Given the description of an element on the screen output the (x, y) to click on. 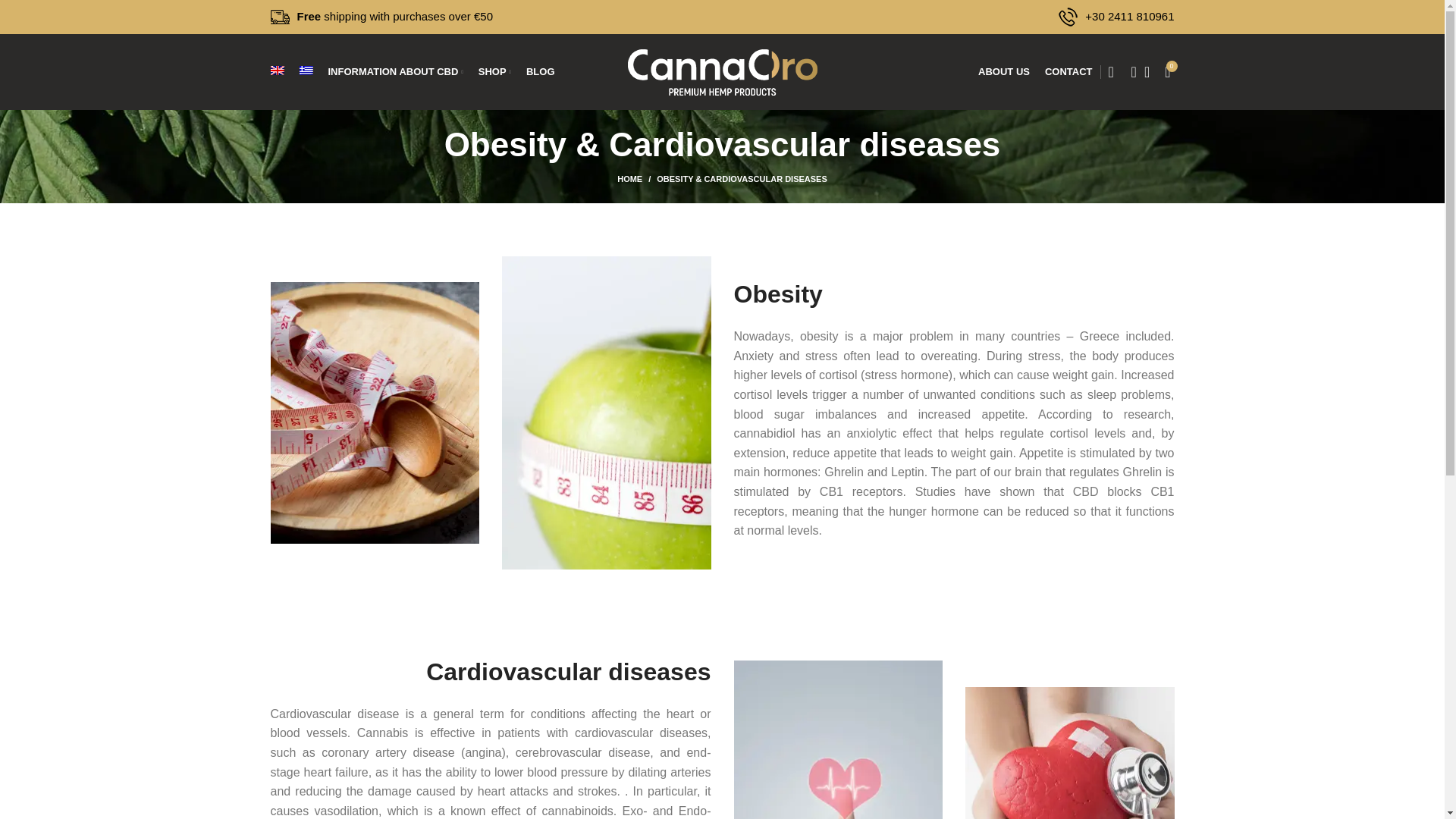
INFORMATION ABOUT CBD (395, 71)
ABOUT US (1003, 71)
SHOP (495, 71)
BLOG (539, 71)
CONTACT (1069, 71)
